Given the description of an element on the screen output the (x, y) to click on. 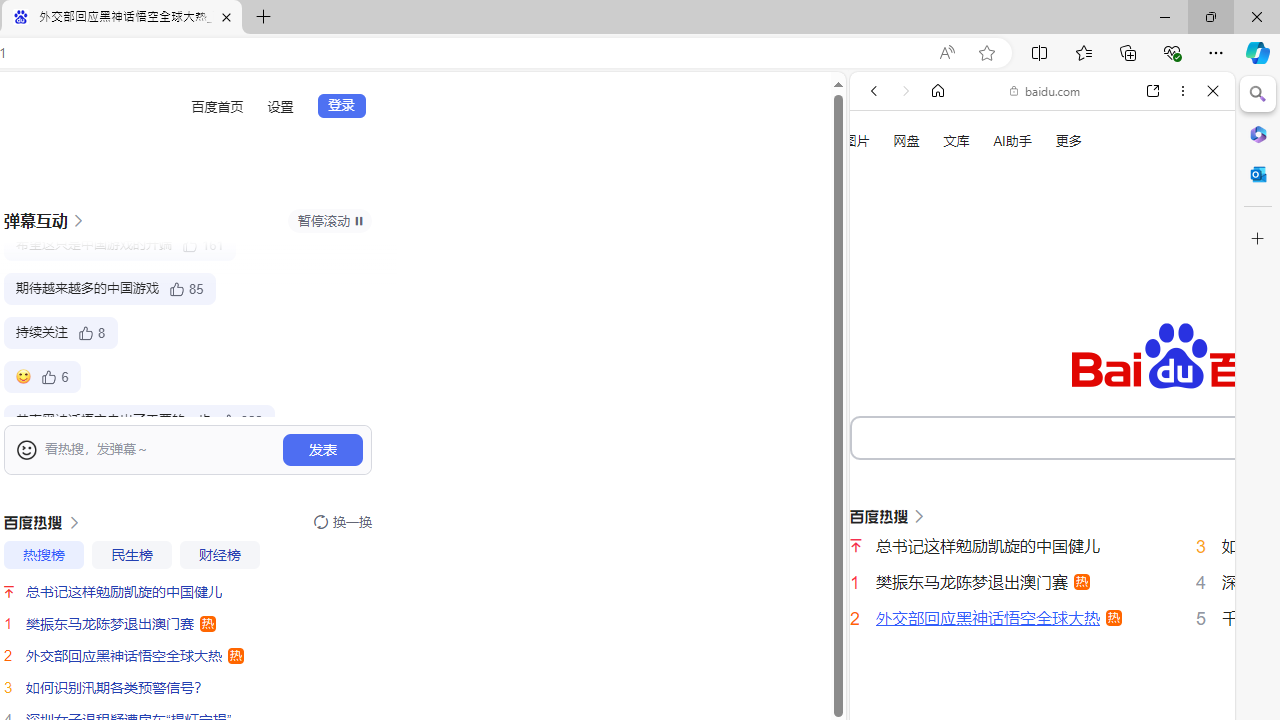
baidu.com (1045, 90)
